Given the description of an element on the screen output the (x, y) to click on. 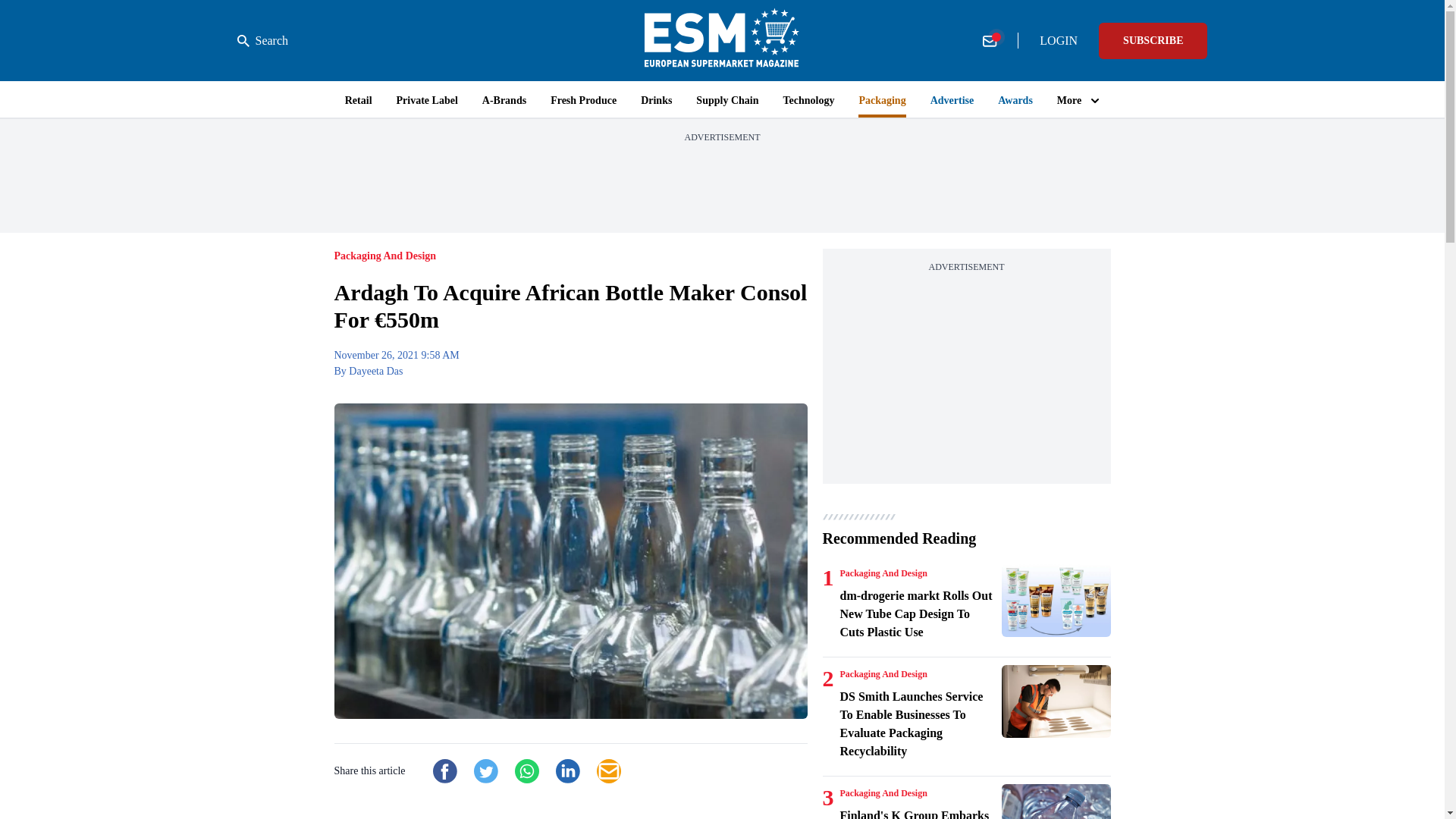
Packaging And Design (883, 674)
ESM (722, 40)
Packaging And Design (883, 793)
Search (261, 40)
Packaging And Design (883, 573)
